Given the description of an element on the screen output the (x, y) to click on. 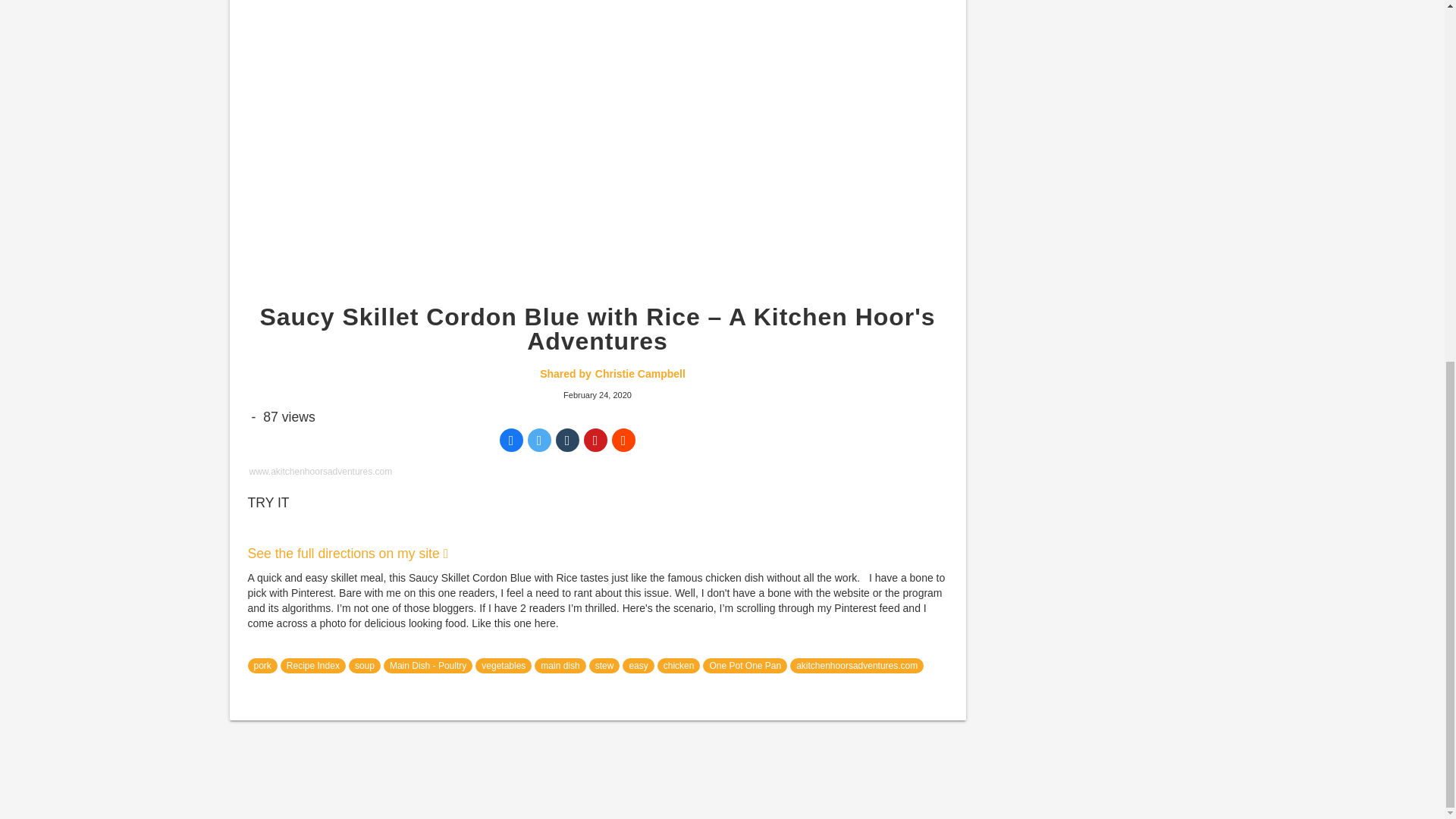
Christie Campbell (612, 373)
